Given the description of an element on the screen output the (x, y) to click on. 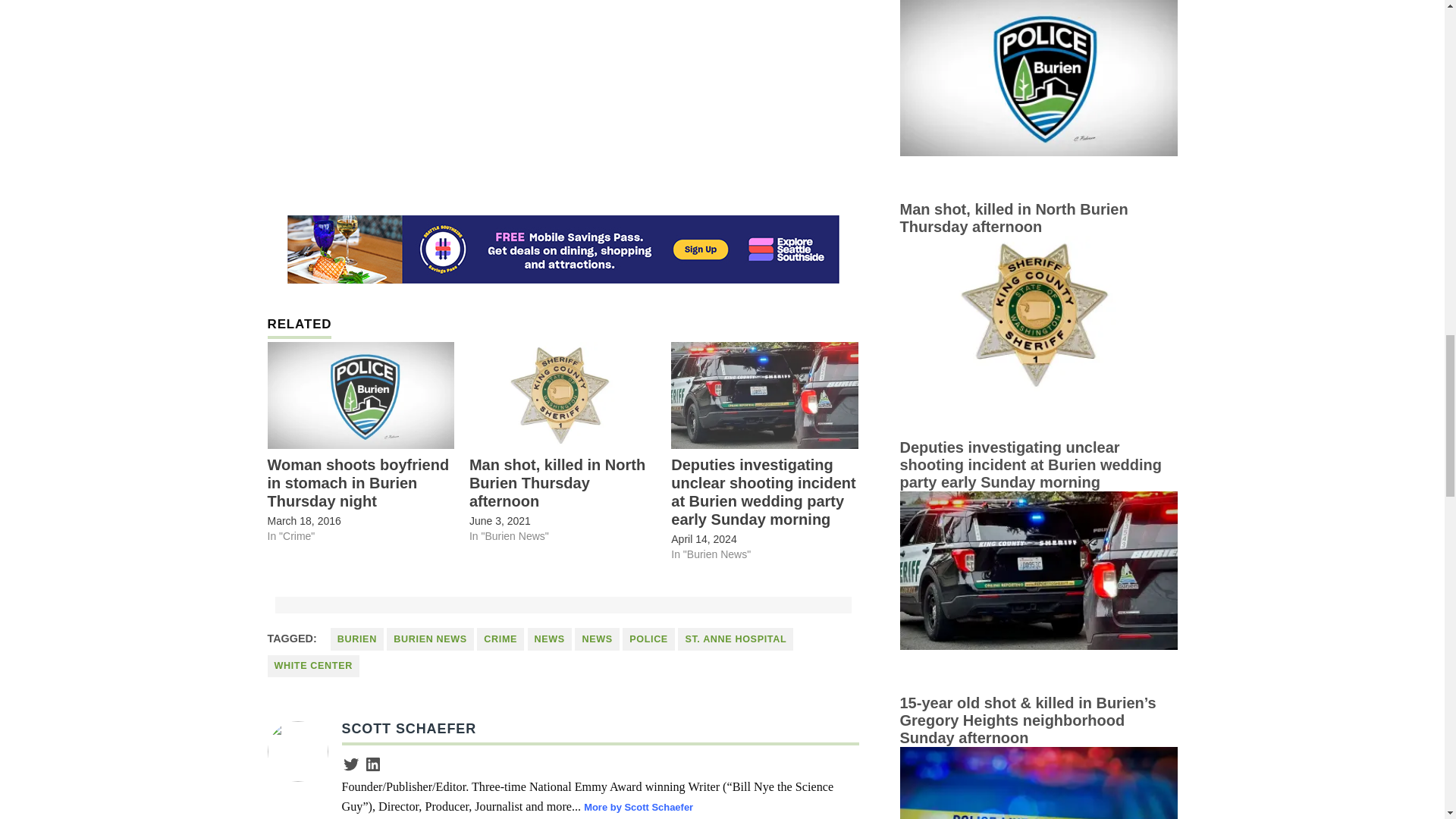
linkedin (372, 764)
twitter (349, 764)
